Given the description of an element on the screen output the (x, y) to click on. 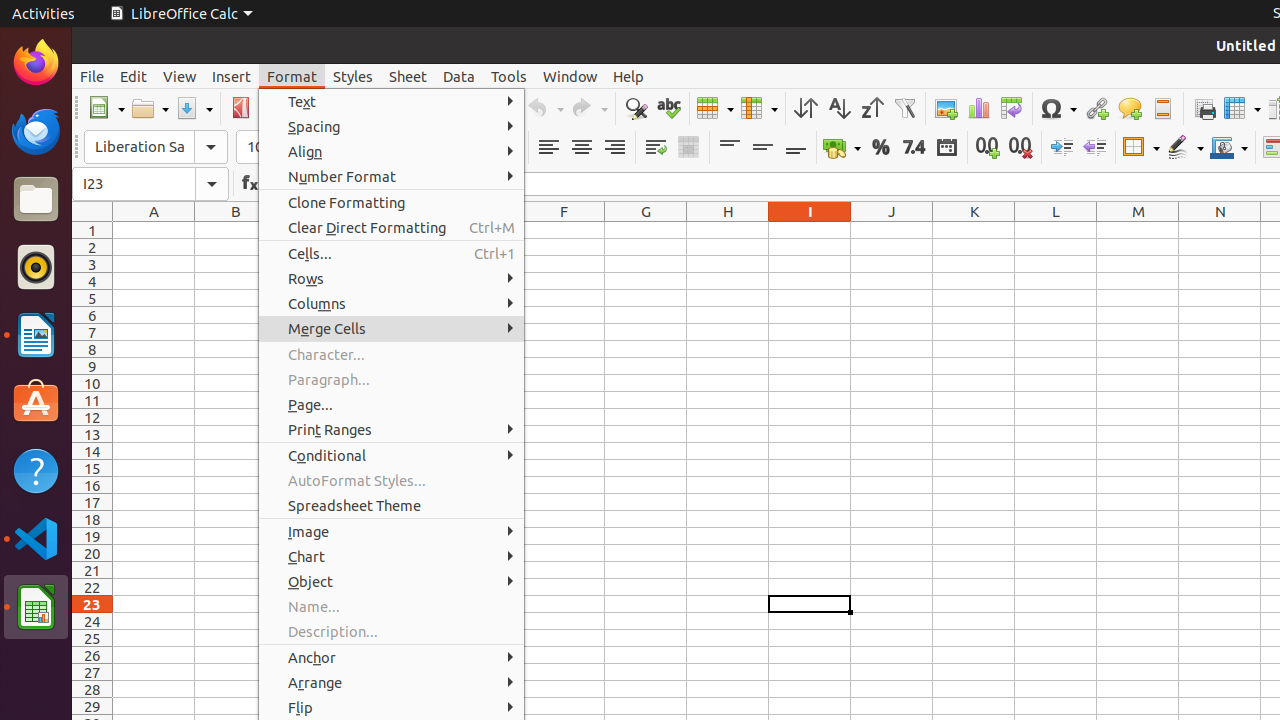
LibreOffice Calc Element type: menu (181, 13)
AutoFilter Element type: push-button (904, 108)
Name Box Element type: panel (150, 184)
Add Decimal Place Element type: push-button (987, 147)
Sheet Element type: menu (408, 76)
